Given the description of an element on the screen output the (x, y) to click on. 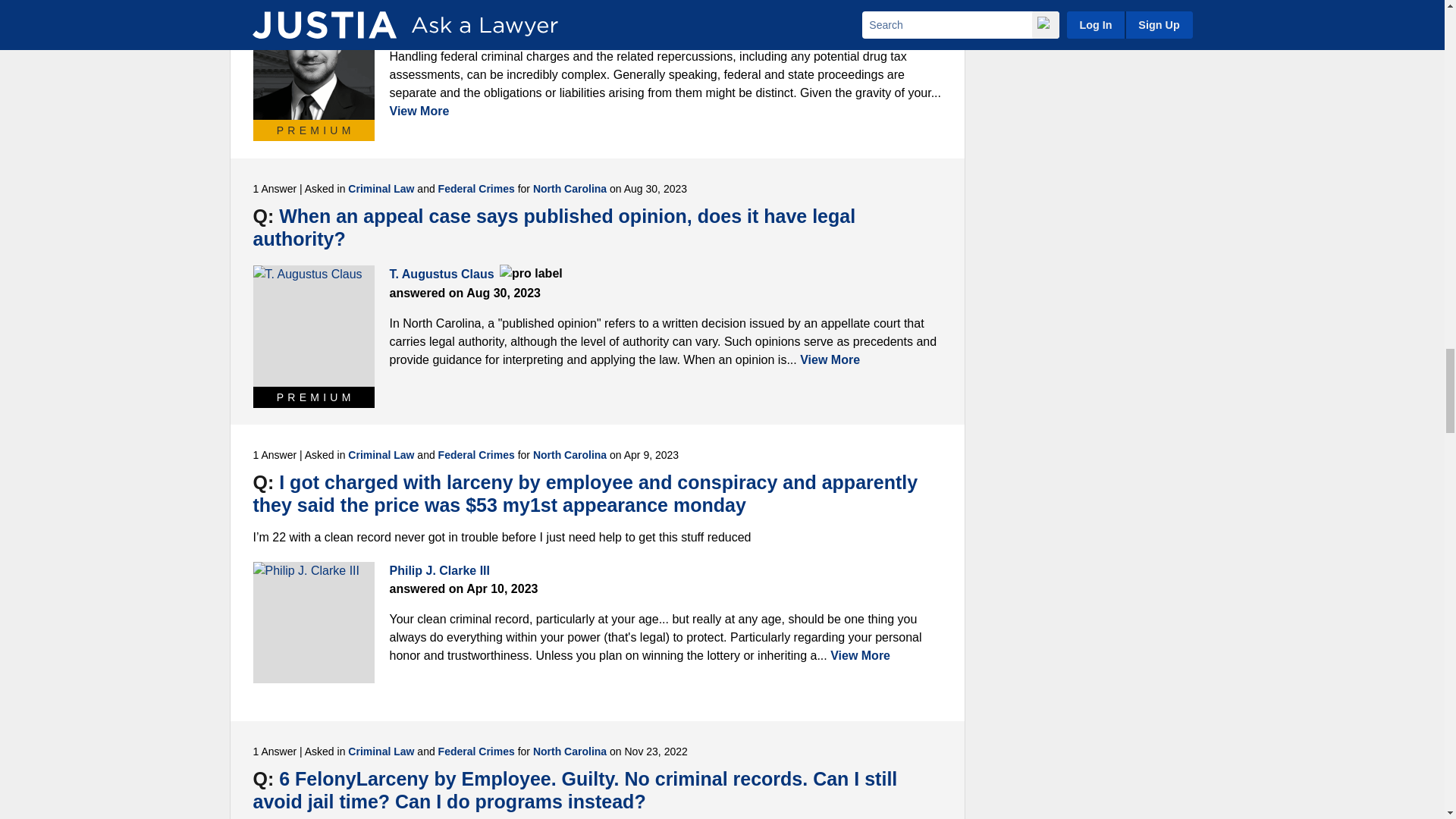
James L. Arrasmith (313, 59)
Philip J. Clarke III (313, 622)
T. Augustus Claus (313, 325)
